Given the description of an element on the screen output the (x, y) to click on. 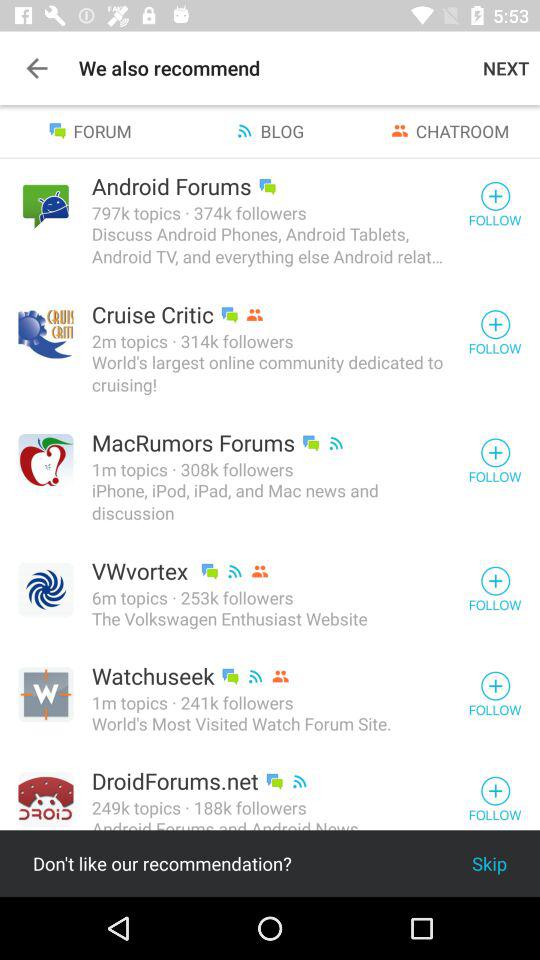
launch the icon to the left of we also recommend (36, 68)
